Given the description of an element on the screen output the (x, y) to click on. 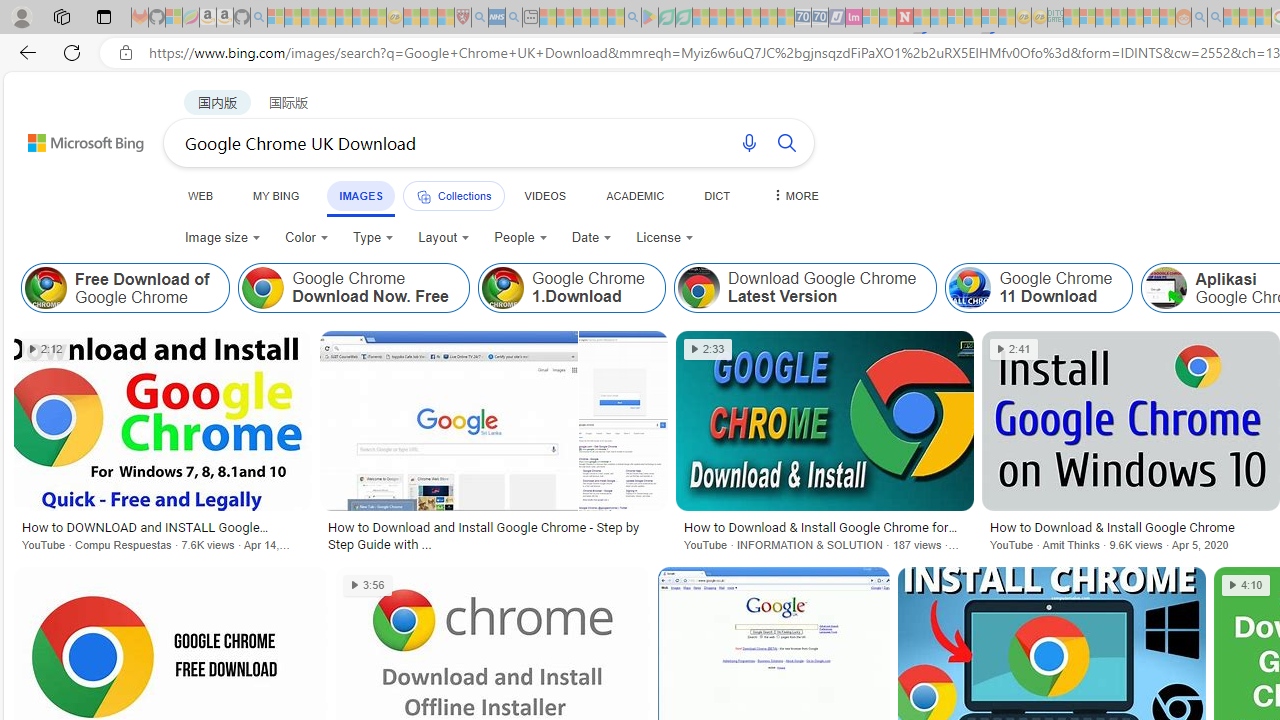
People (520, 237)
License (665, 237)
2:12 (45, 349)
